Given the description of an element on the screen output the (x, y) to click on. 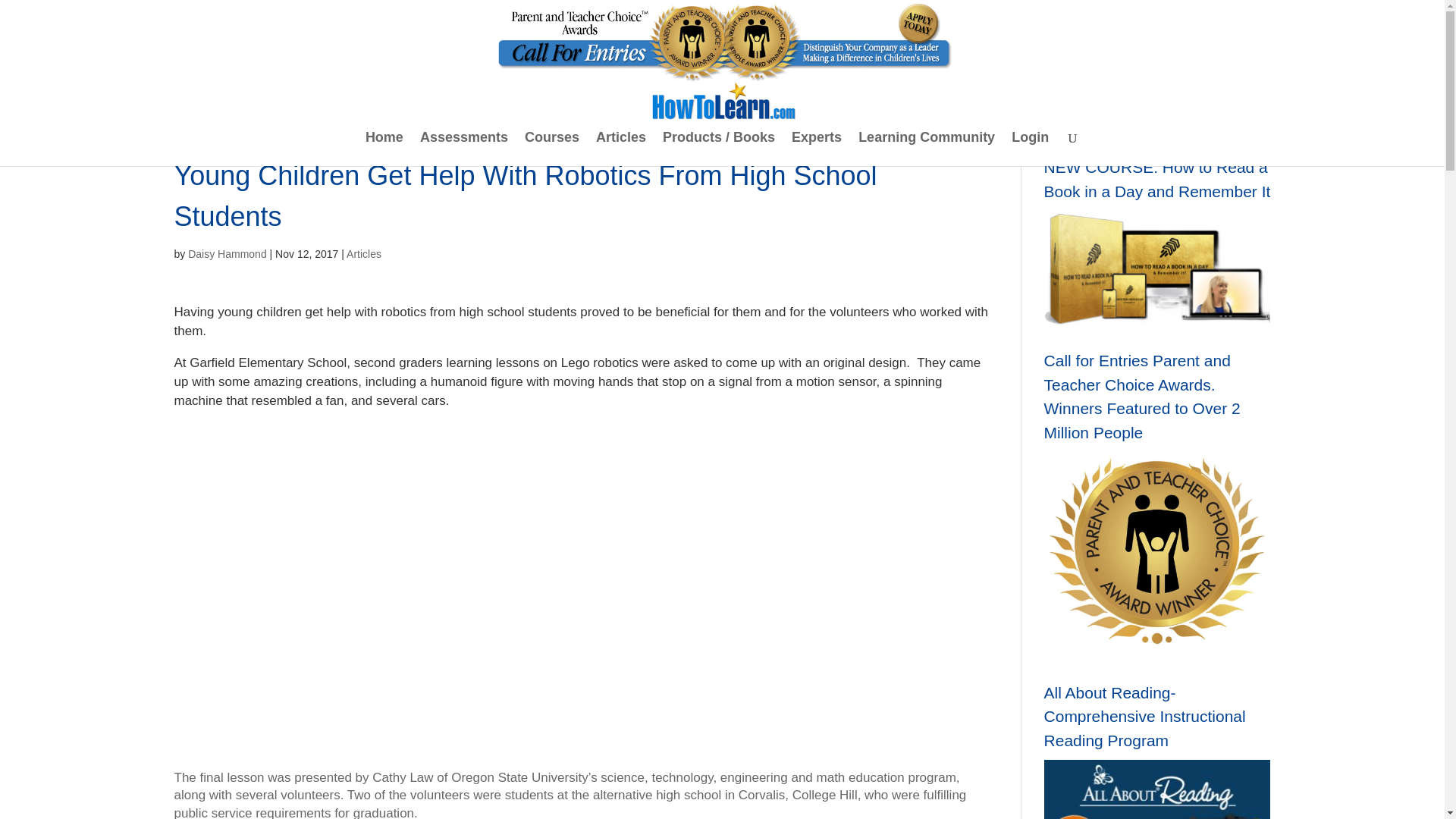
Learning Community (926, 148)
Login (1029, 148)
Advertisement (581, 669)
Articles (620, 148)
Home (384, 148)
Assessments (464, 148)
Articles (363, 254)
Experts (816, 148)
Courses (551, 148)
Posts by Daisy Hammond (226, 254)
